Given the description of an element on the screen output the (x, y) to click on. 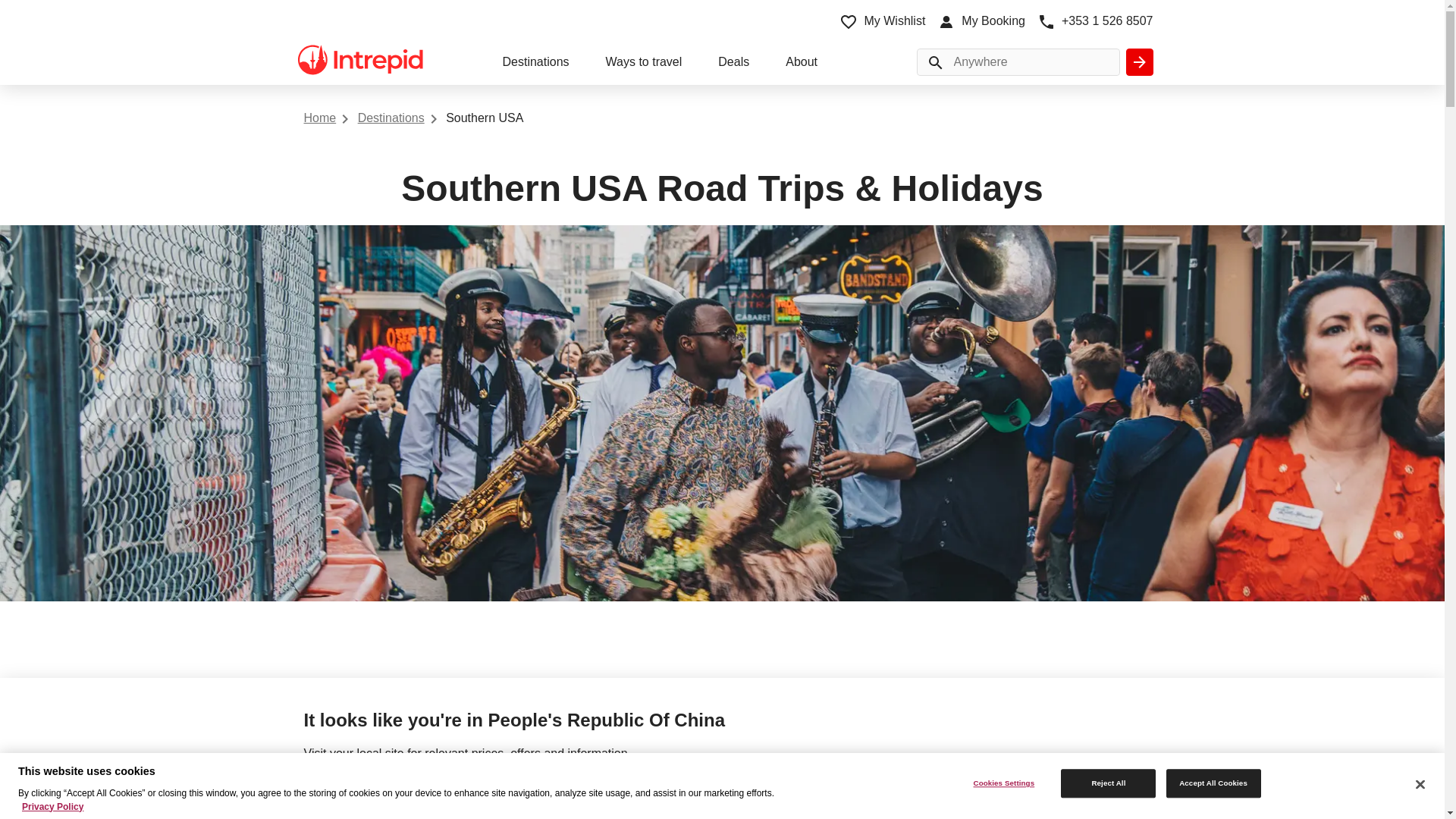
My Booking (980, 21)
Destinations (534, 63)
Ways to travel (644, 63)
Deals (733, 63)
About (801, 63)
My Wishlist (881, 21)
